Given the description of an element on the screen output the (x, y) to click on. 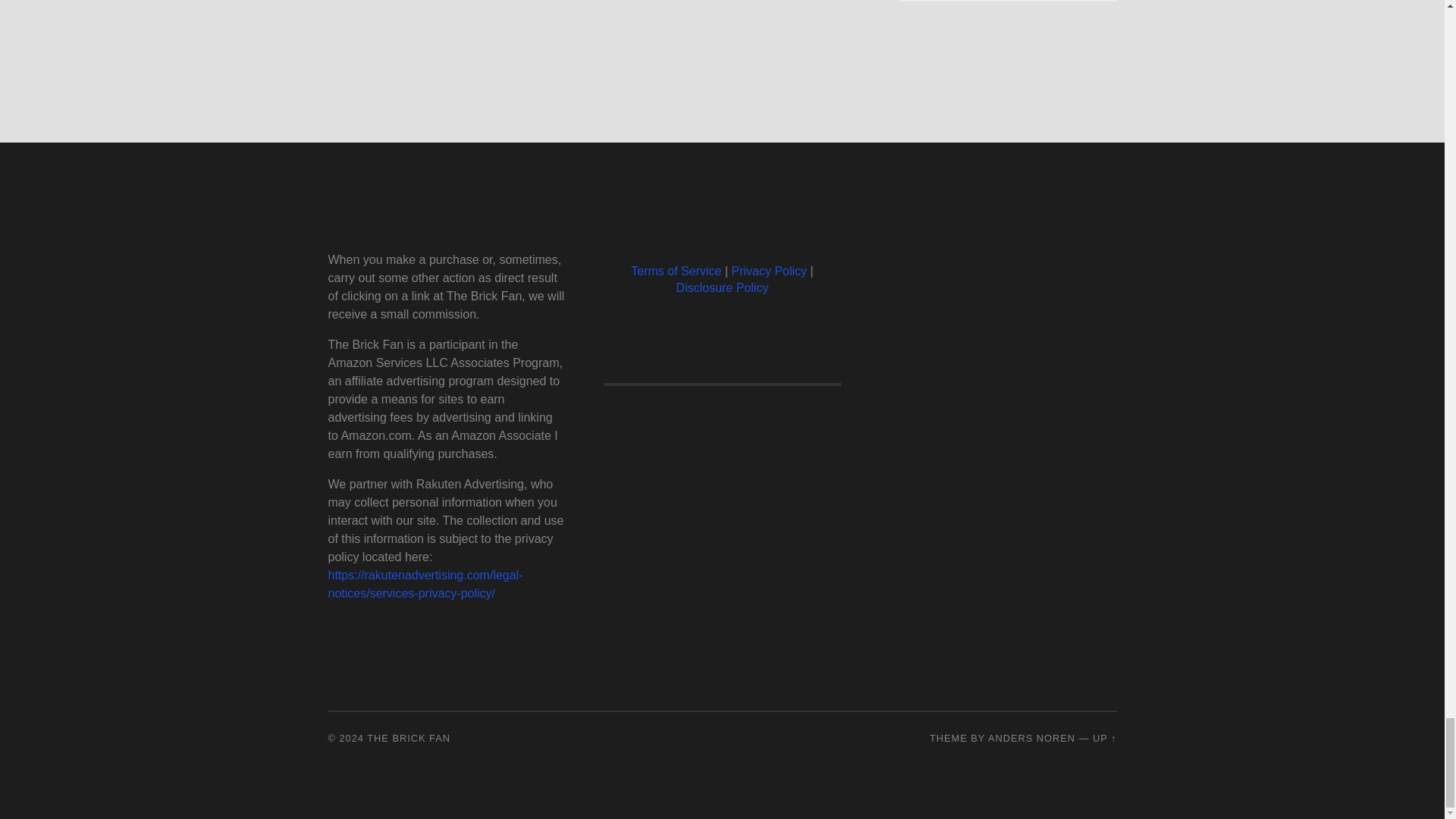
To the top (1104, 737)
